Given the description of an element on the screen output the (x, y) to click on. 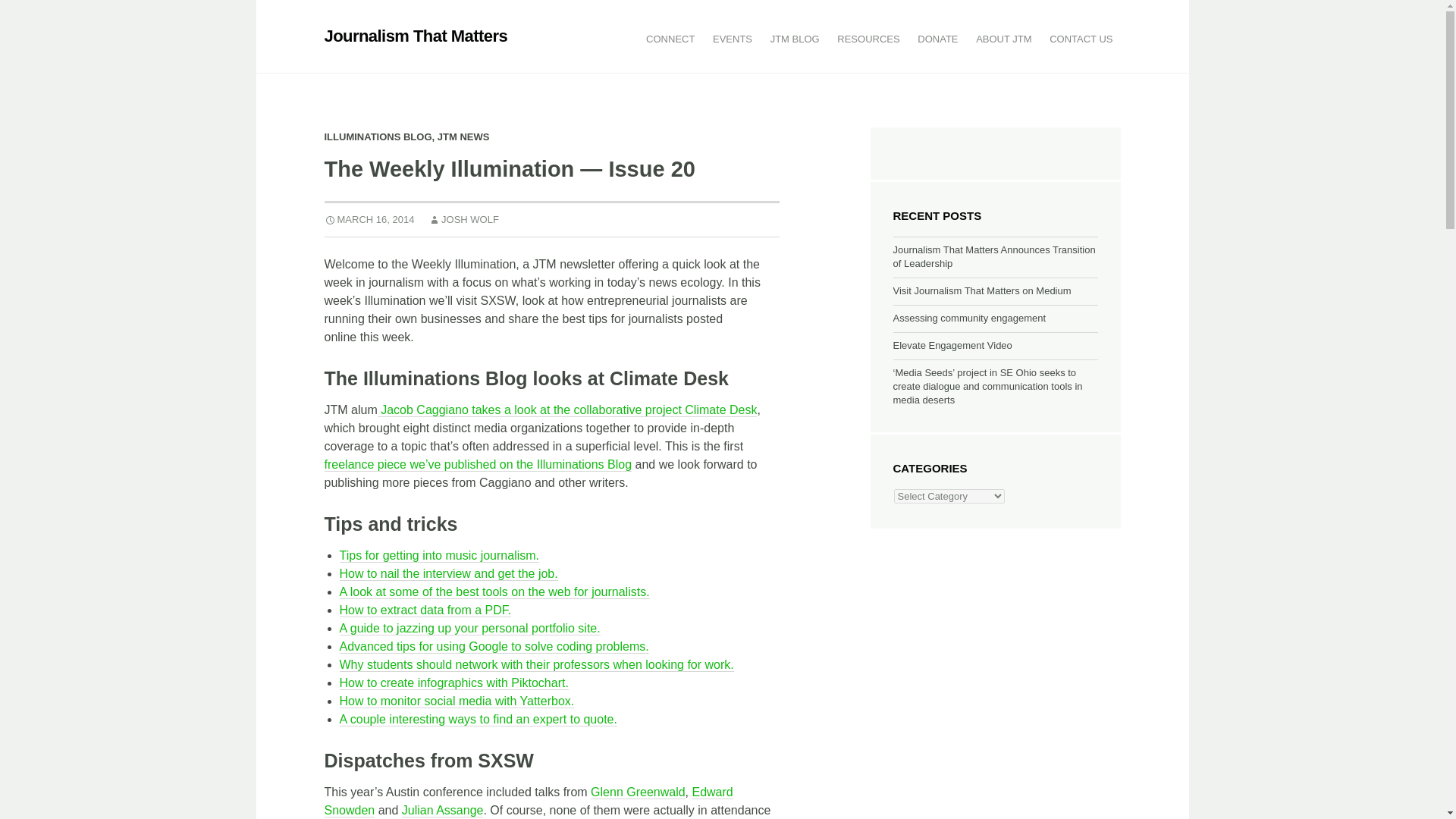
ABOUT JTM (1003, 39)
EVENTS (732, 39)
View all posts by Josh Wolf (463, 219)
RESOURCES (868, 39)
Tips for getting into music journalism. (439, 555)
How to nail the interview and get the job. (448, 573)
Journalism That Matters (416, 35)
Julian Assange (442, 810)
Glenn Greenwald (638, 792)
MARCH 16, 2014 (369, 219)
